Given the description of an element on the screen output the (x, y) to click on. 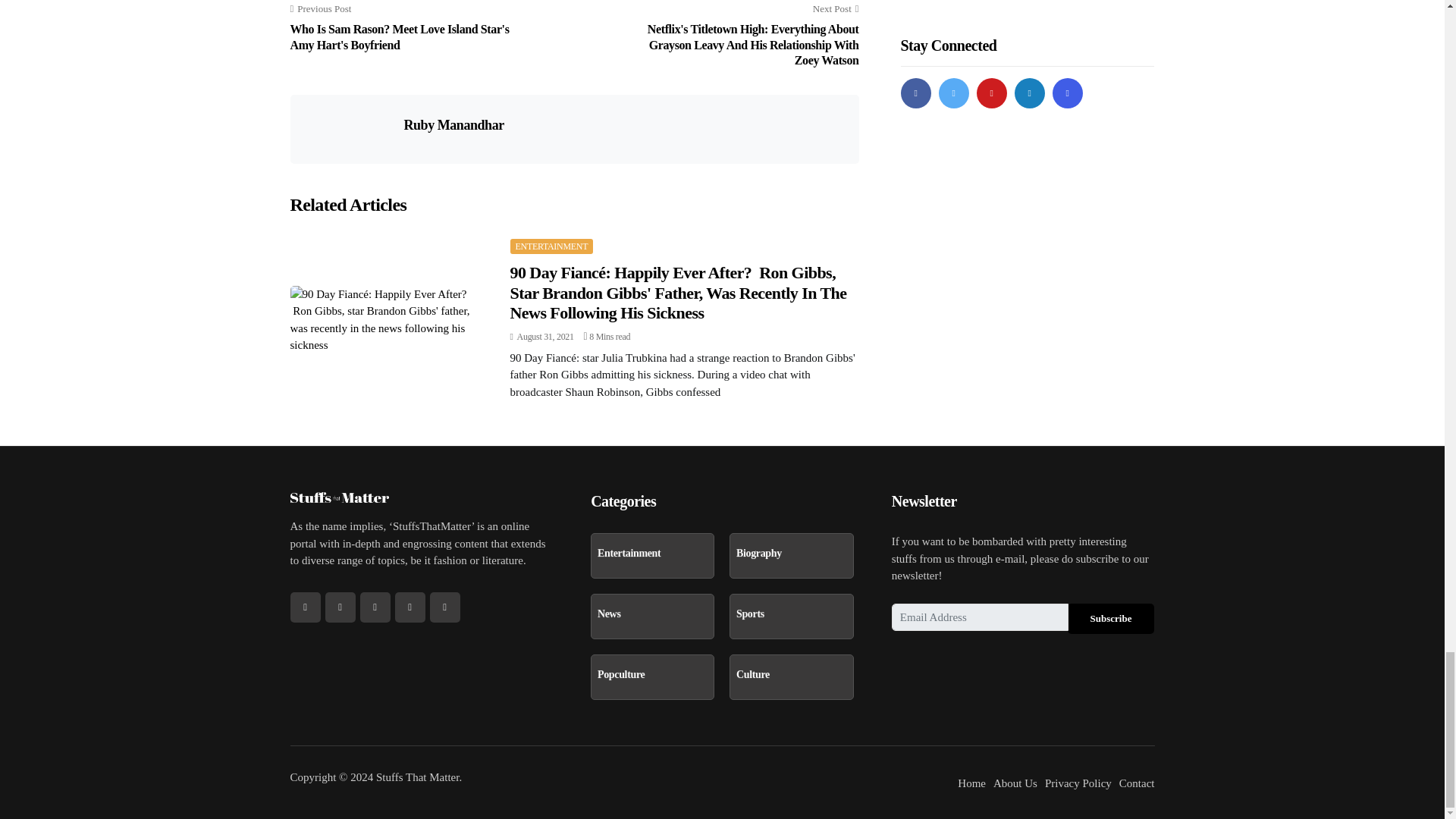
Privacy Policy (1078, 783)
Home (971, 783)
August 31, 2021 11:36 AM (541, 336)
ENTERTAINMENT (550, 246)
About Us (1014, 783)
Contact (1136, 783)
